Given the description of an element on the screen output the (x, y) to click on. 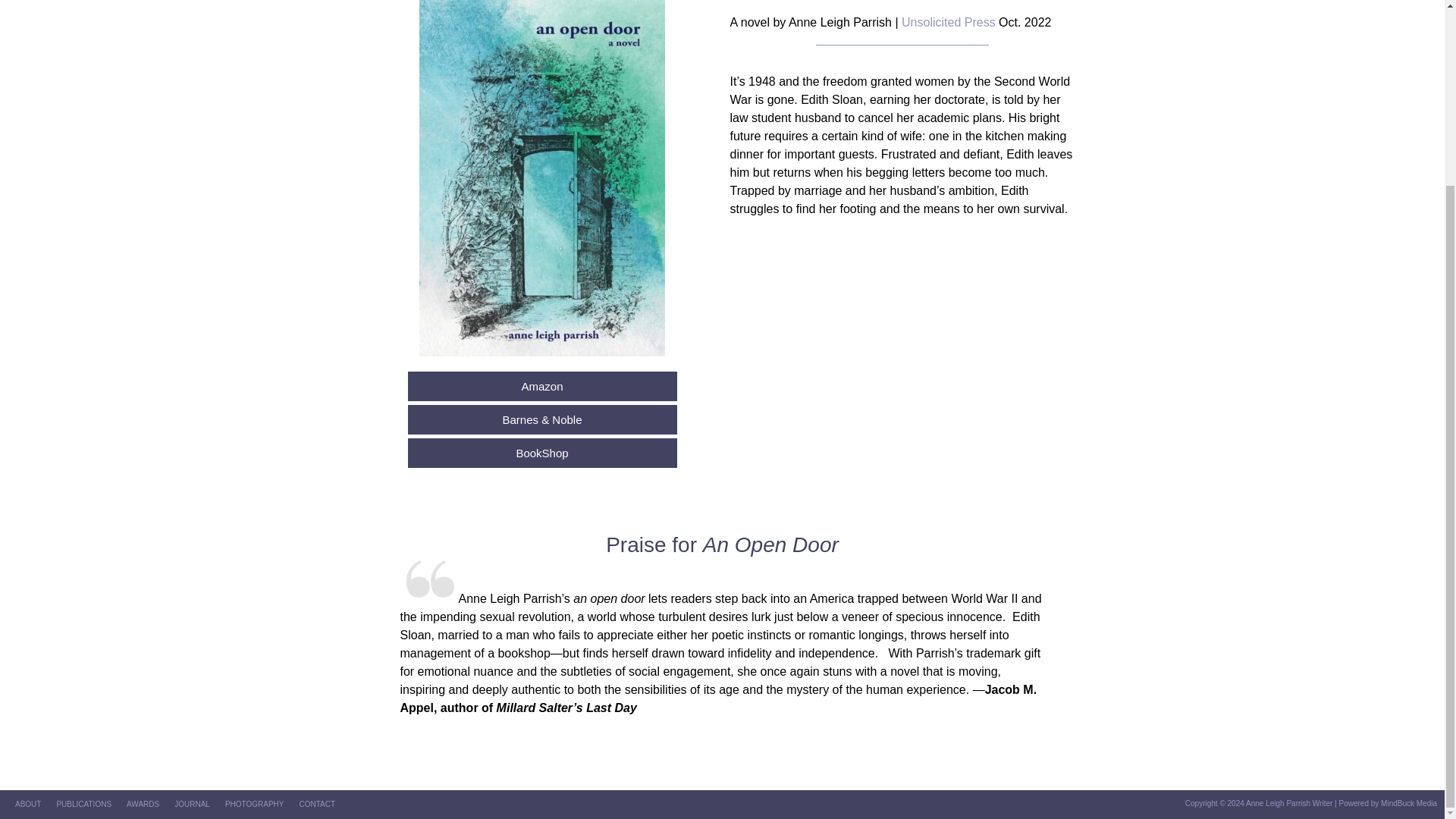
JOURNAL (191, 804)
BookShop (542, 452)
PHOTOGRAPHY (254, 804)
Amazon (542, 386)
AWARDS (143, 804)
CONTACT (317, 804)
ABOUT (27, 804)
Unsolicited Press (948, 21)
PUBLICATIONS (83, 804)
